Given the description of an element on the screen output the (x, y) to click on. 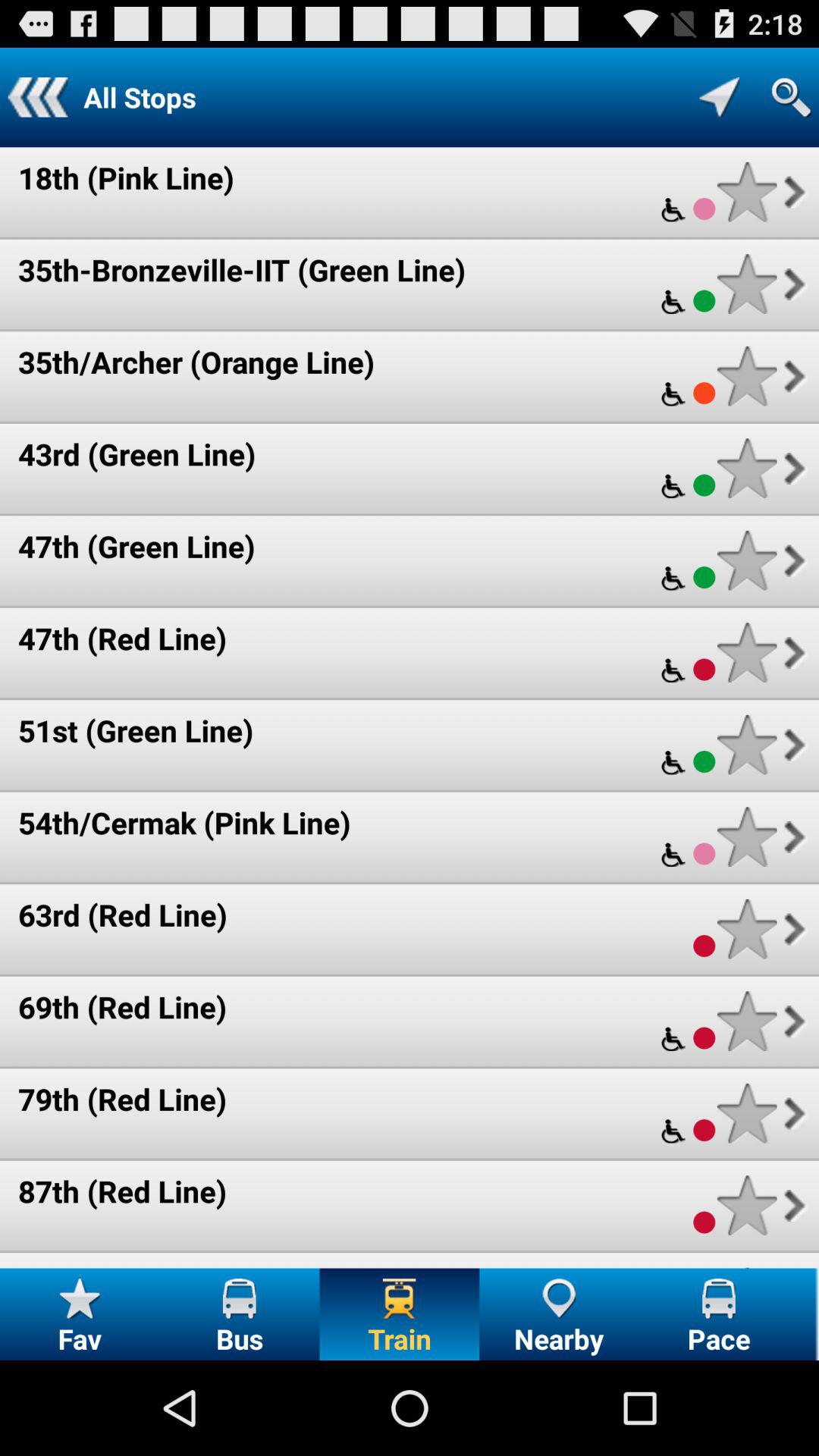
click the 51st (green line) item (135, 730)
